Given the description of an element on the screen output the (x, y) to click on. 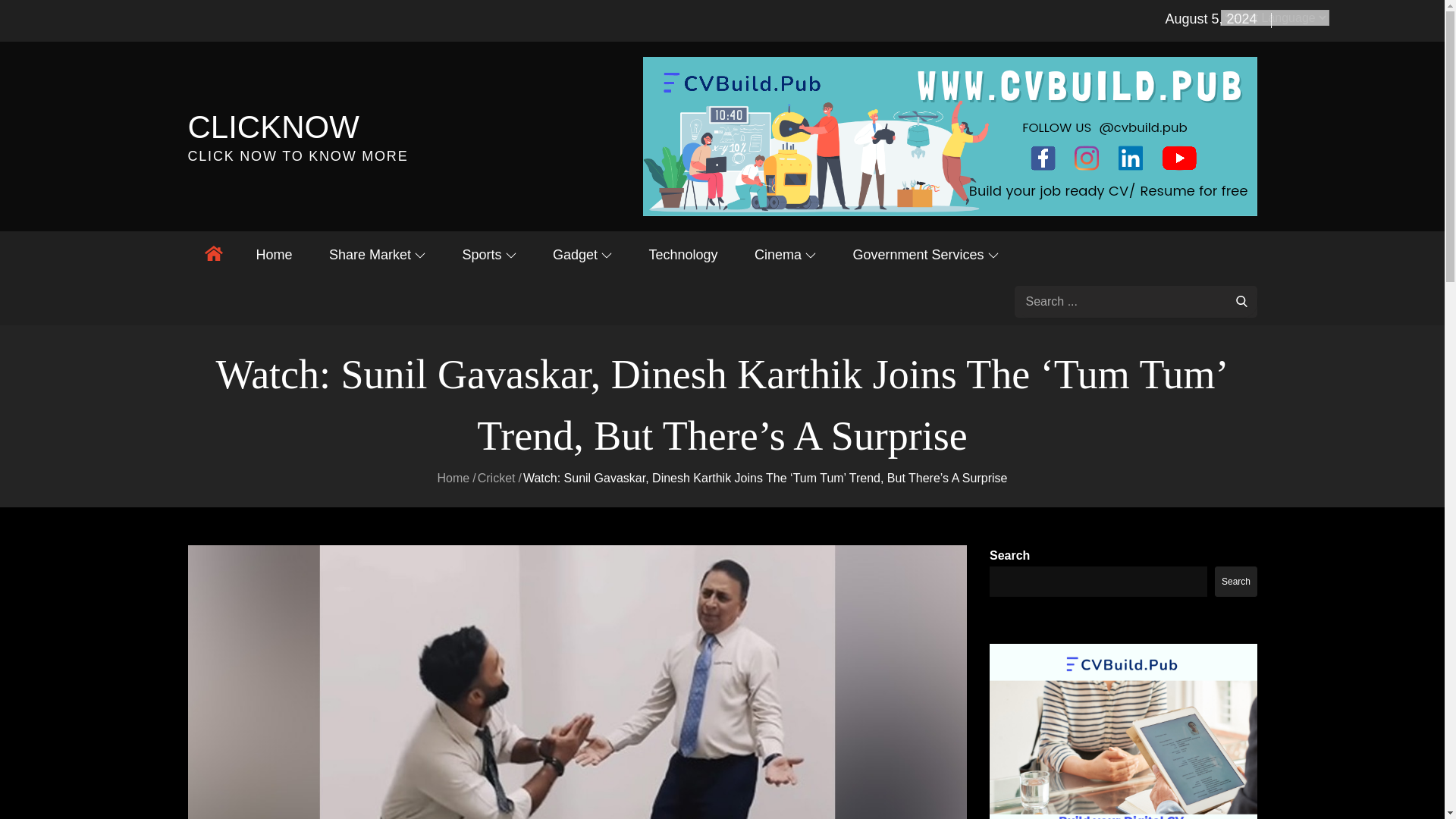
Gadget (581, 254)
Government Services (924, 254)
Cinema (785, 254)
Sports (488, 254)
Share Market (377, 254)
Search for: (1135, 301)
CLICKNOW (273, 126)
Home (274, 254)
Technology (682, 254)
